Given the description of an element on the screen output the (x, y) to click on. 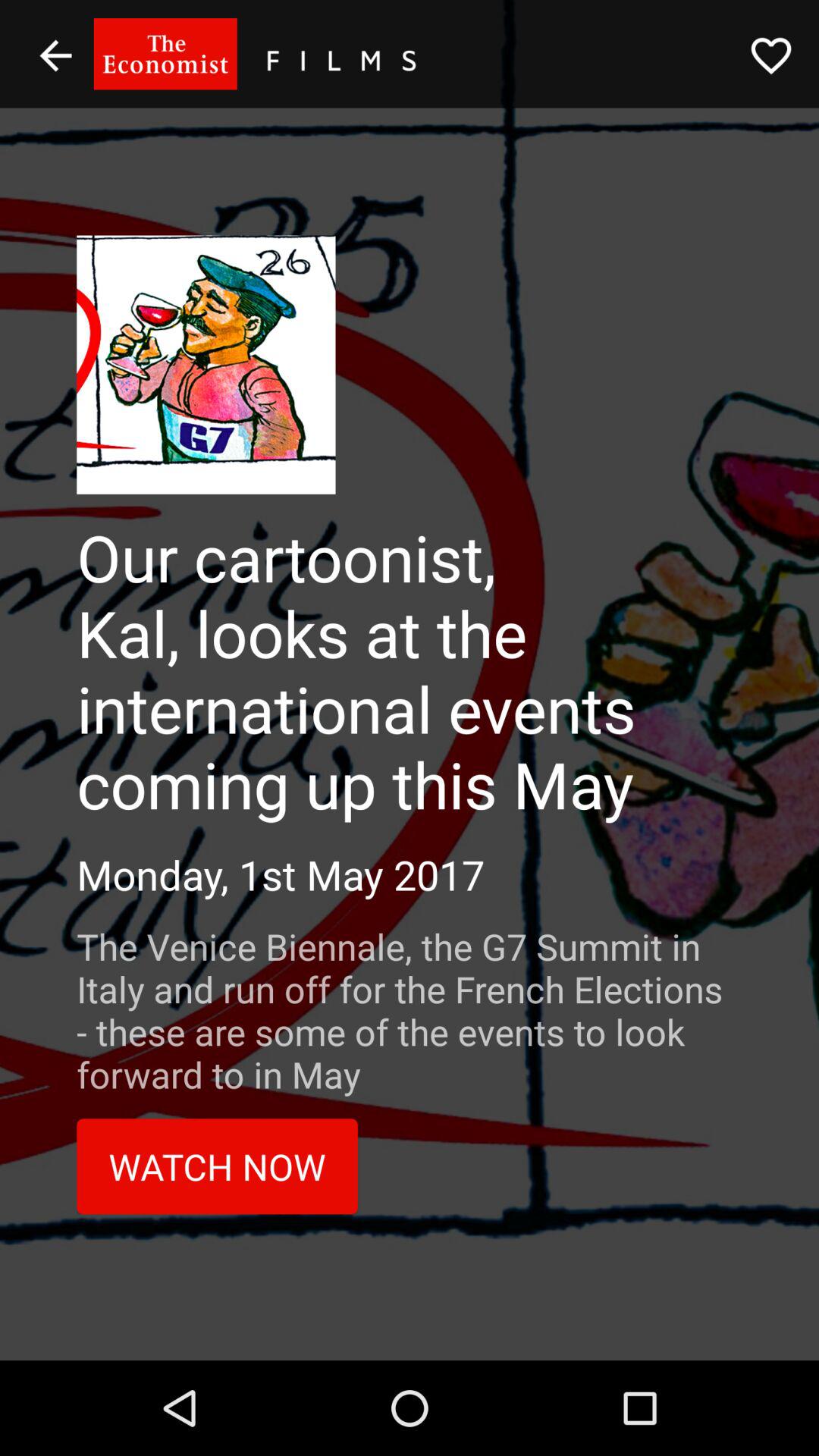
scroll to the watch now icon (216, 1166)
